Given the description of an element on the screen output the (x, y) to click on. 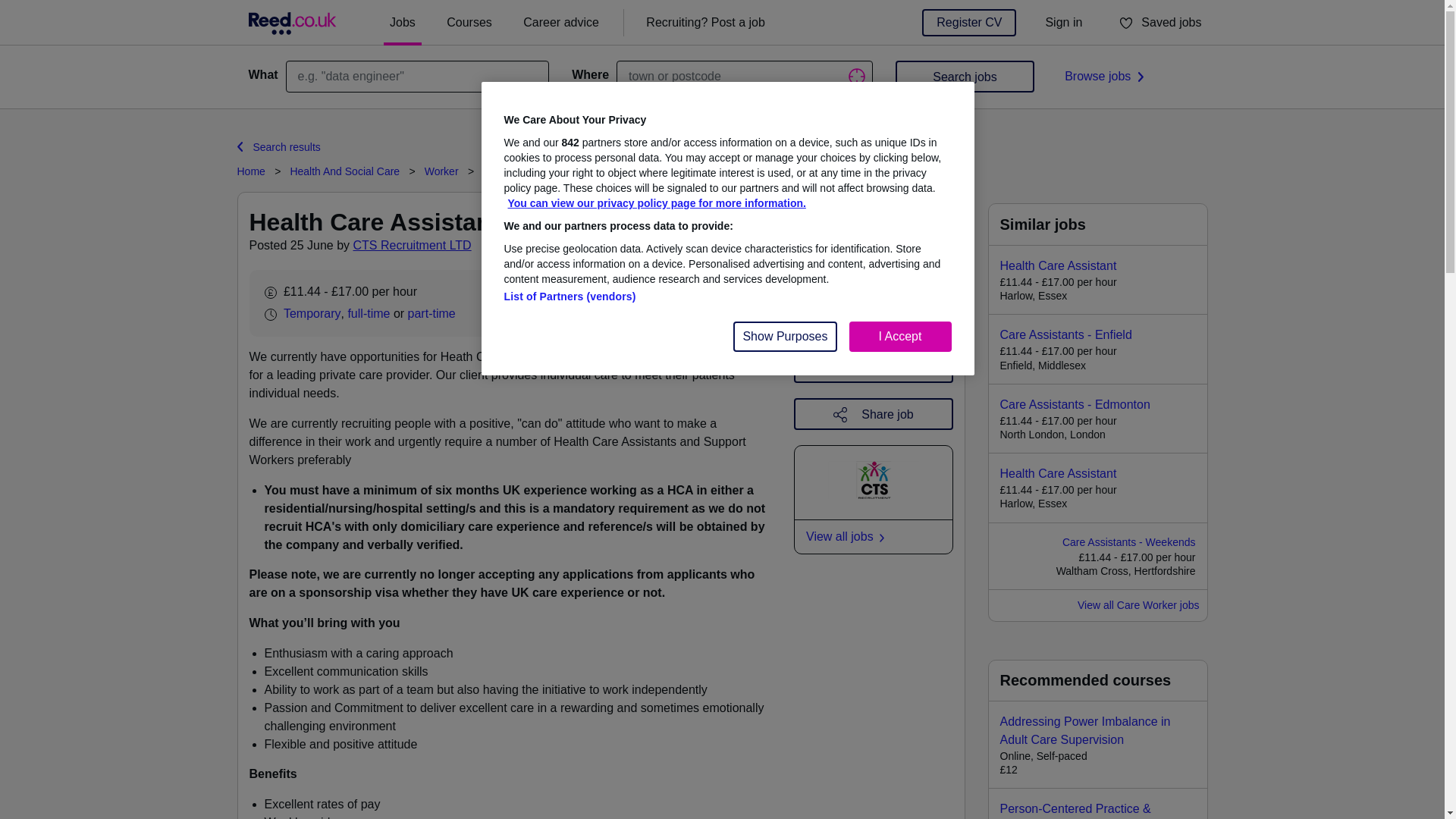
Courses (469, 22)
View more jobs from CTS Recruitment LTD (411, 245)
Home (249, 171)
Saved jobs (1158, 22)
Temporary (311, 314)
Recruiter (705, 22)
Courses (469, 22)
Saved jobs (1158, 22)
Career advice (560, 22)
e.g. "data analyst" (417, 76)
Waltham Cross (585, 292)
Search jobs (964, 76)
Health And Social Care (343, 171)
Register (812, 315)
Register CV (968, 22)
